Given the description of an element on the screen output the (x, y) to click on. 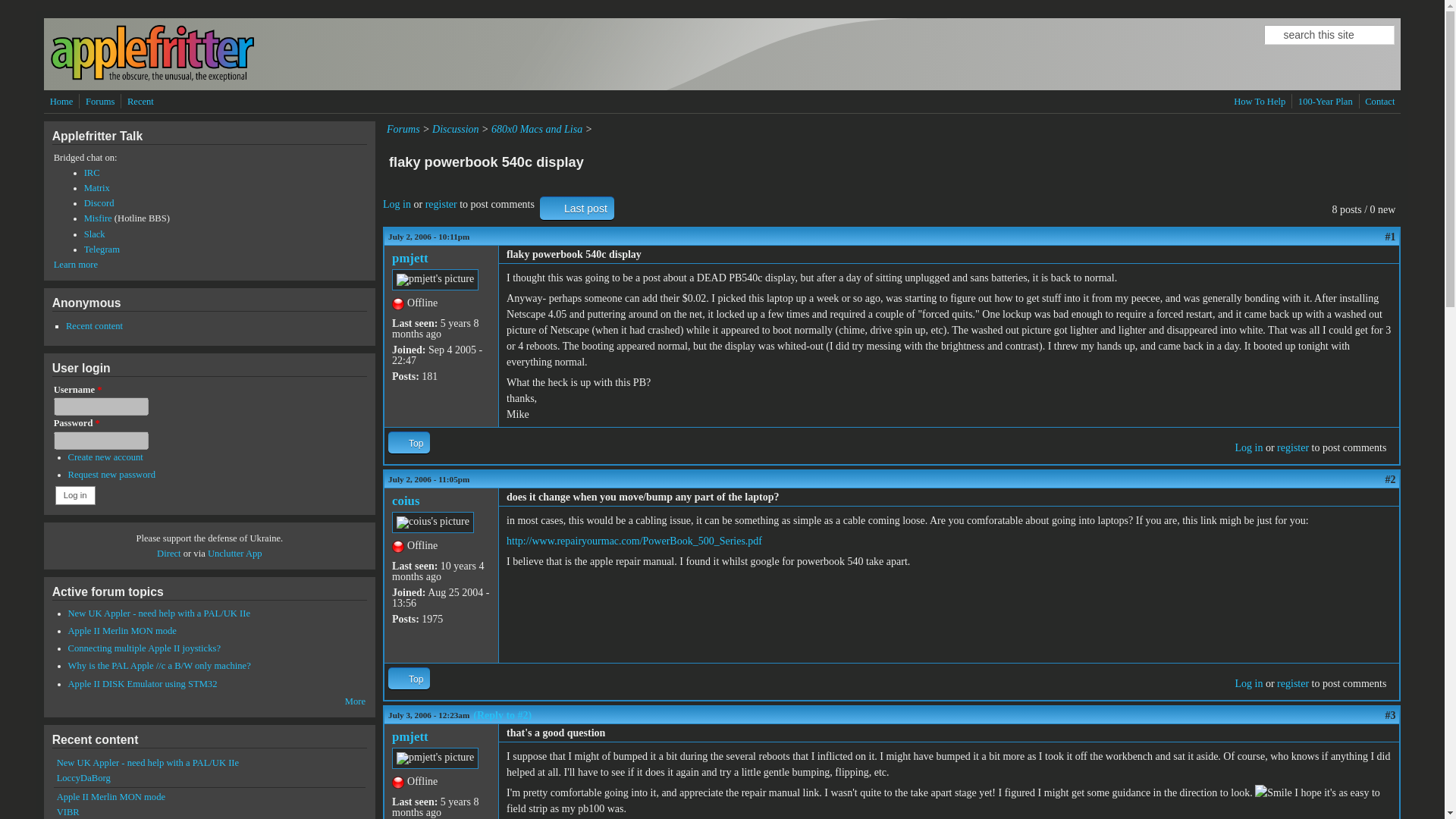
coius's picture (432, 522)
pmjett (409, 257)
Log in (1248, 683)
register (1292, 447)
Log in (1248, 447)
Last post (577, 208)
Forums (99, 101)
Home (151, 79)
Home (61, 101)
search this site (1328, 35)
Forums (403, 129)
pmjett's picture (435, 758)
Log in (396, 204)
View user profile. (409, 736)
